Given the description of an element on the screen output the (x, y) to click on. 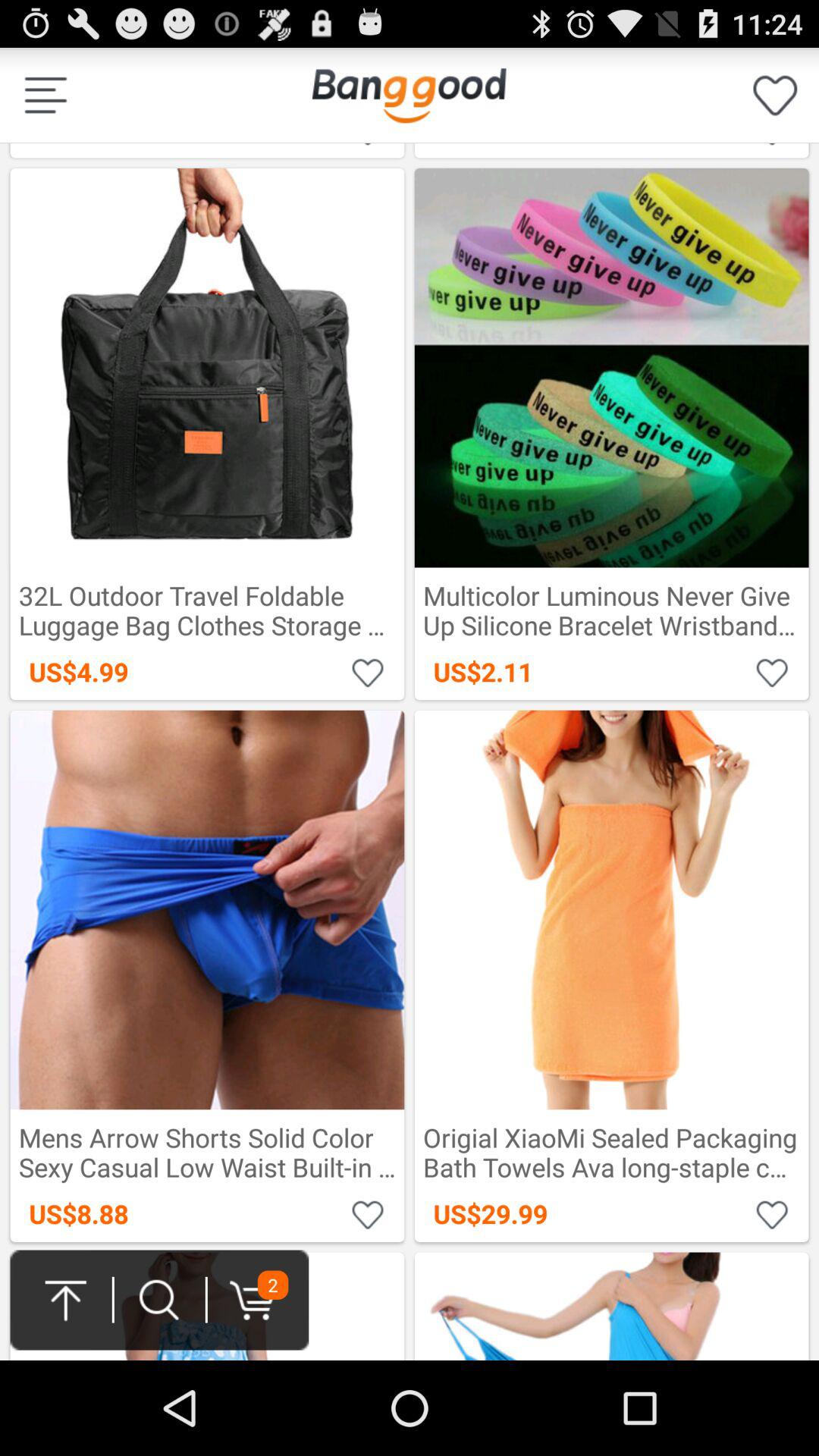
press the item to the right of the us$1.59 icon (775, 95)
